Given the description of an element on the screen output the (x, y) to click on. 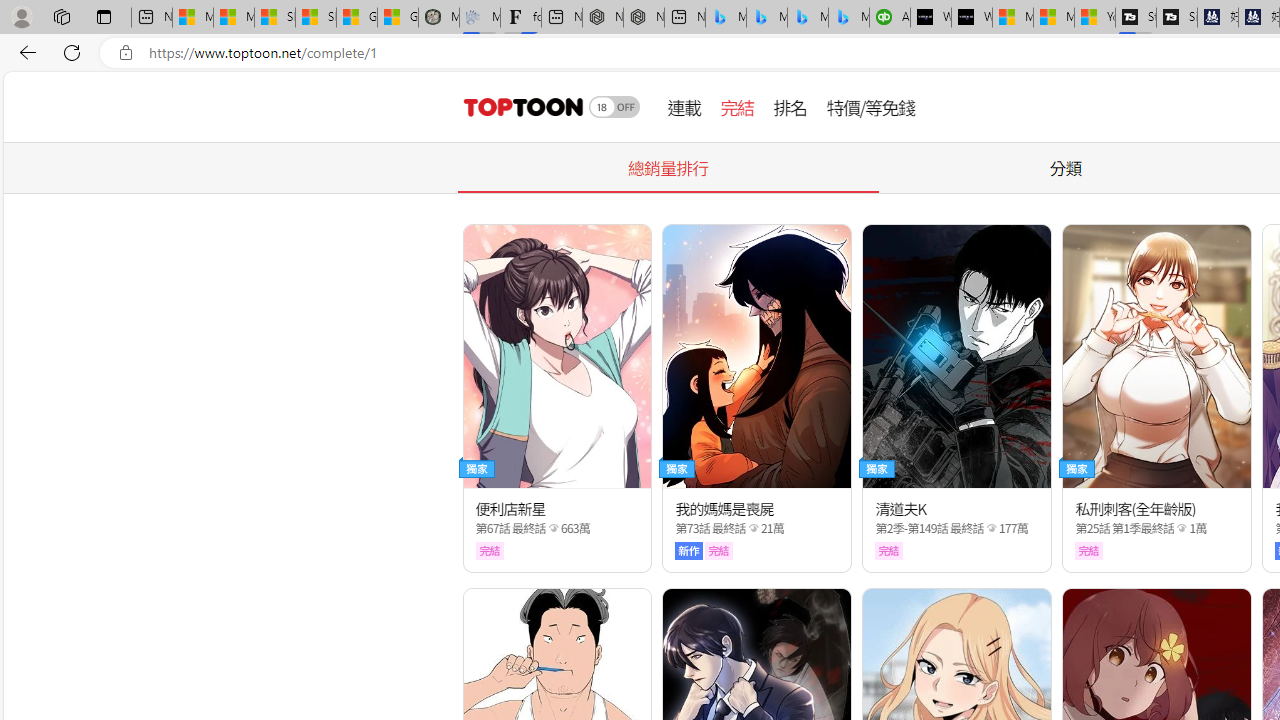
header (519, 106)
Class: thumb_img (1156, 356)
Class: epicon_starpoint (1182, 527)
